Given the description of an element on the screen output the (x, y) to click on. 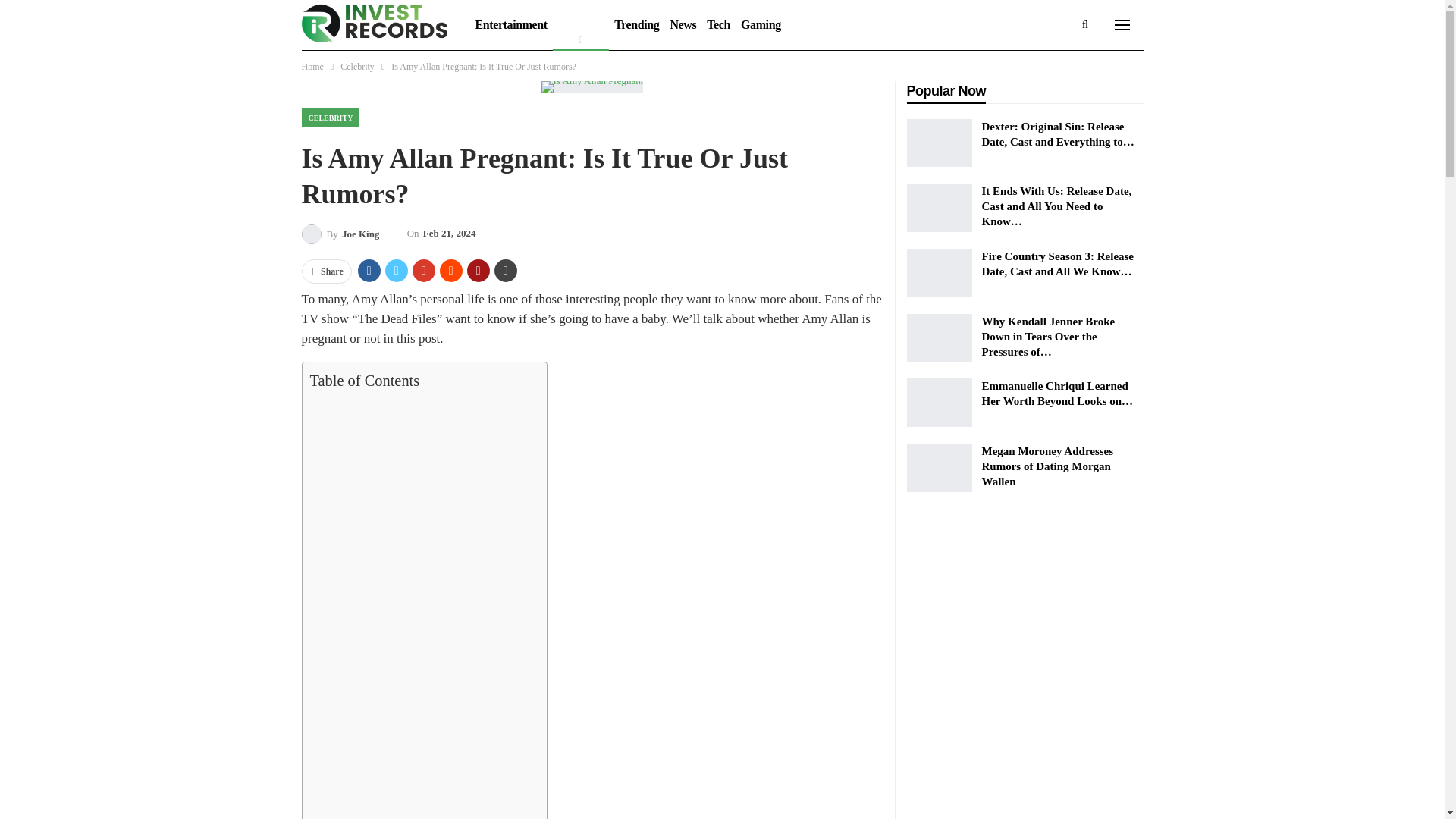
Home (312, 66)
Celebrity (580, 24)
Entertainment (511, 24)
CELEBRITY (330, 117)
By Joe King (340, 233)
Browse Author Articles (340, 233)
Celebrity (357, 66)
Gaming (760, 24)
Trending (635, 24)
